Given the description of an element on the screen output the (x, y) to click on. 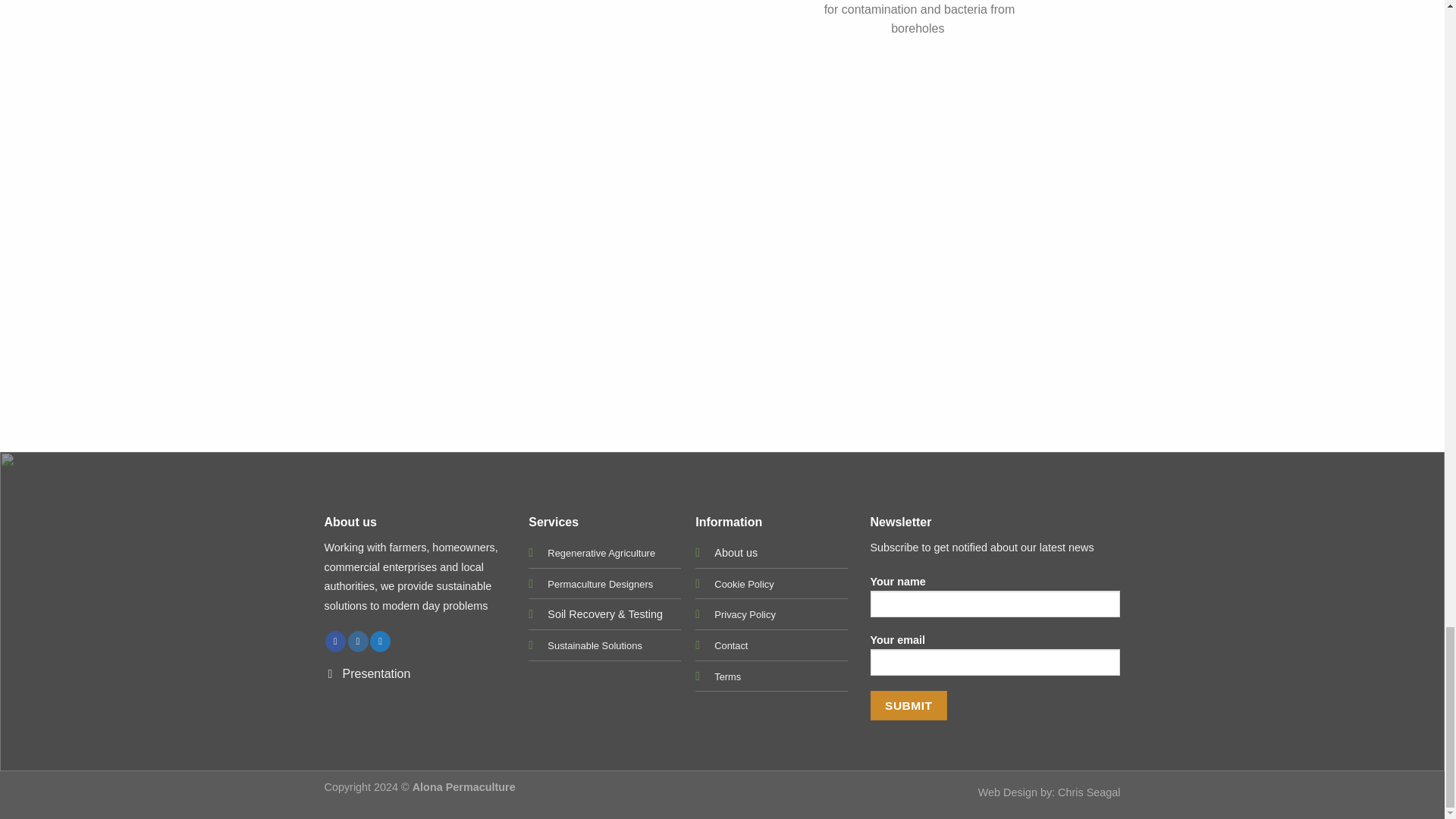
Follow on Facebook (335, 640)
Follow on Twitter (379, 640)
Submit (908, 705)
Follow on Instagram (357, 640)
